Given the description of an element on the screen output the (x, y) to click on. 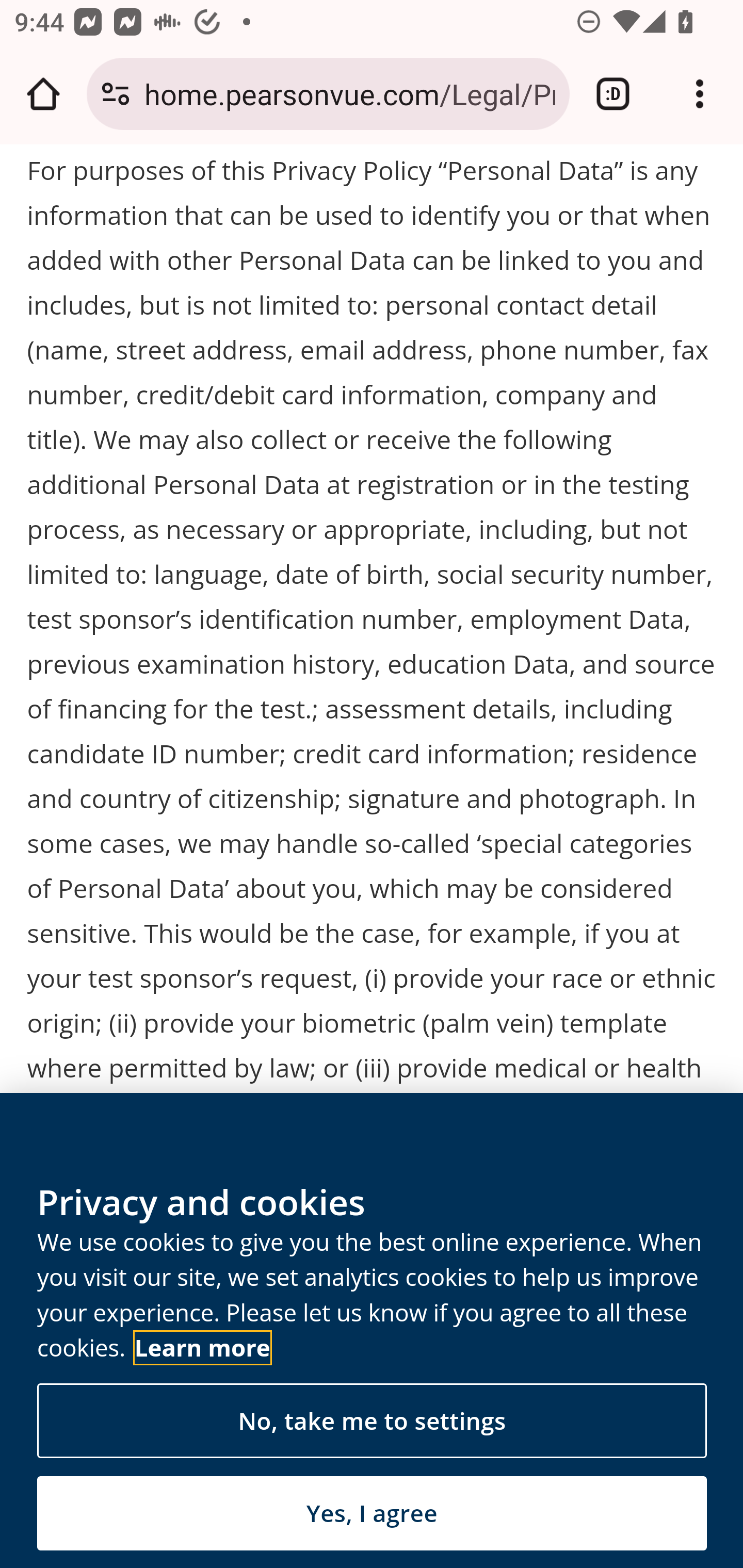
Open the home page (43, 93)
Connection is secure (115, 93)
Switch or close tabs (612, 93)
Customize and control Google Chrome (699, 93)
No, take me to settings (372, 1421)
Yes, I agree (372, 1514)
